Given the description of an element on the screen output the (x, y) to click on. 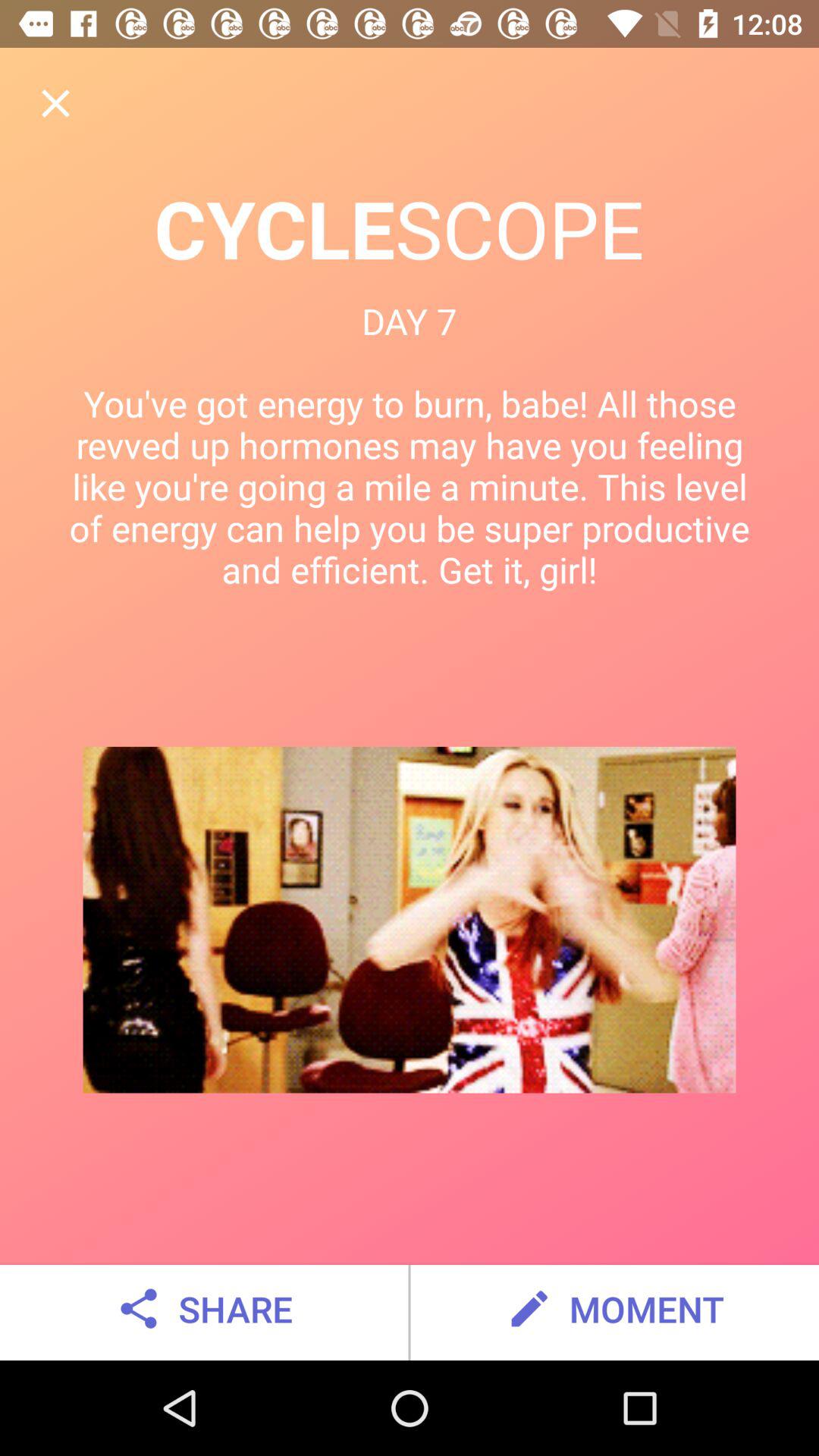
select item above cyclescope  item (55, 103)
